Given the description of an element on the screen output the (x, y) to click on. 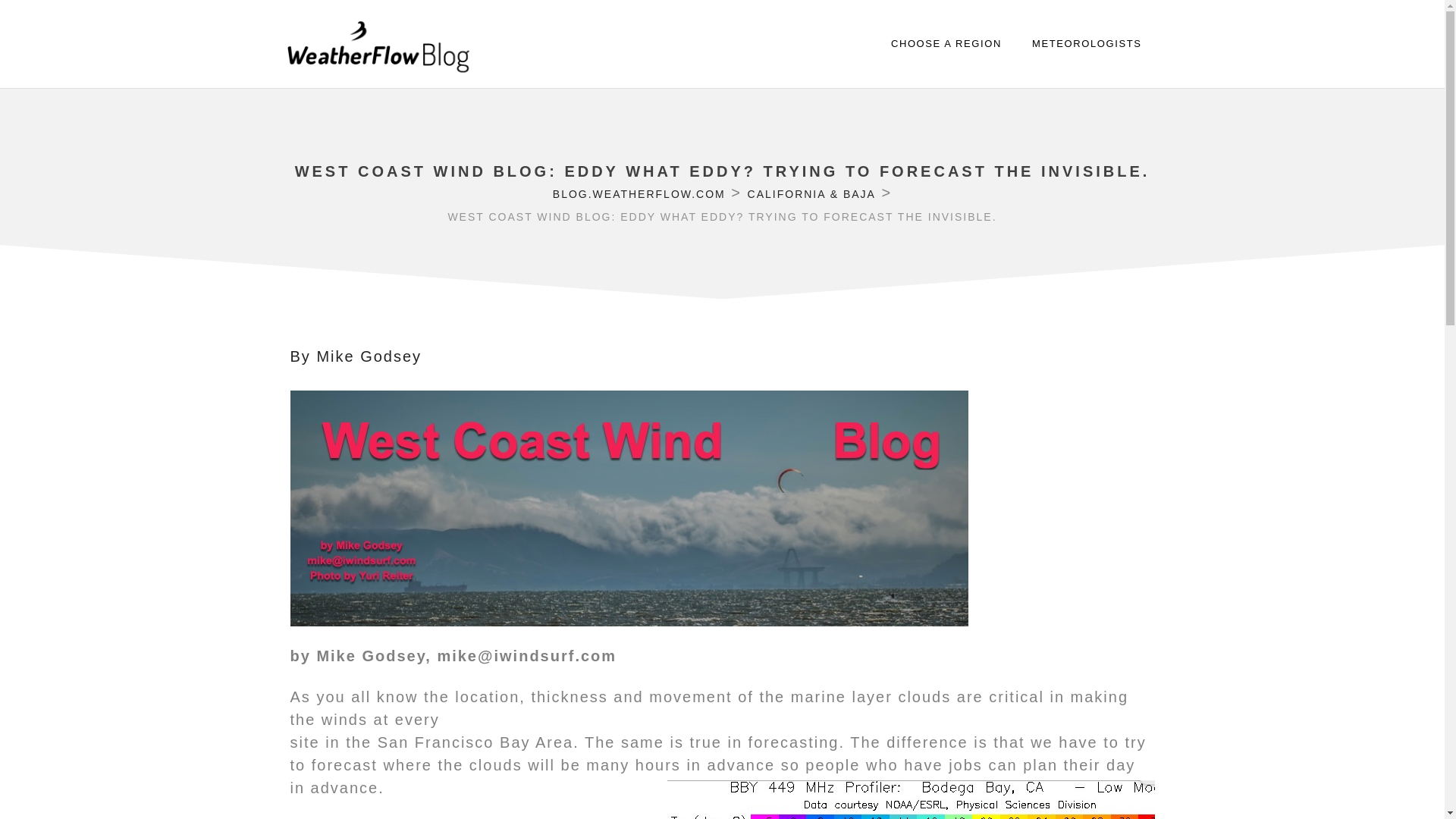
CHOOSE A REGION (946, 43)
METEOROLOGISTS (1086, 43)
Go to Blog.WeatherFlow.com. (639, 194)
